Given the description of an element on the screen output the (x, y) to click on. 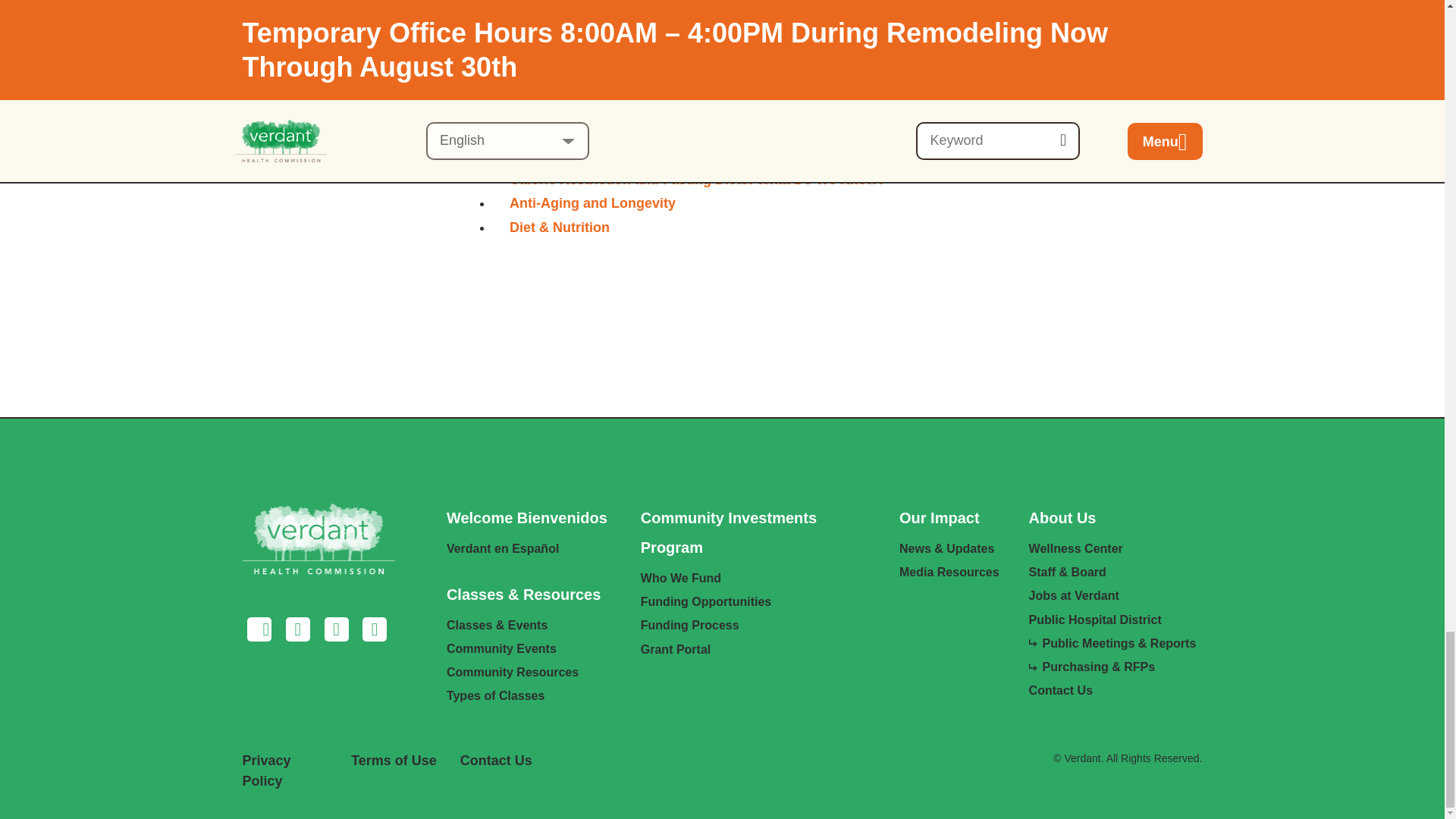
Twitter link (335, 630)
YouTube link (373, 630)
Can You Lengthen Your Life? (603, 155)
Minding Your Metabolism (591, 131)
Calorie Restriction and Fasting Diets: What Do We Know? (697, 179)
Healthy Eating Special Issue (601, 107)
Instagram link (298, 630)
Anti-Aging and Longevity (592, 202)
Facebook link (260, 630)
